Given the description of an element on the screen output the (x, y) to click on. 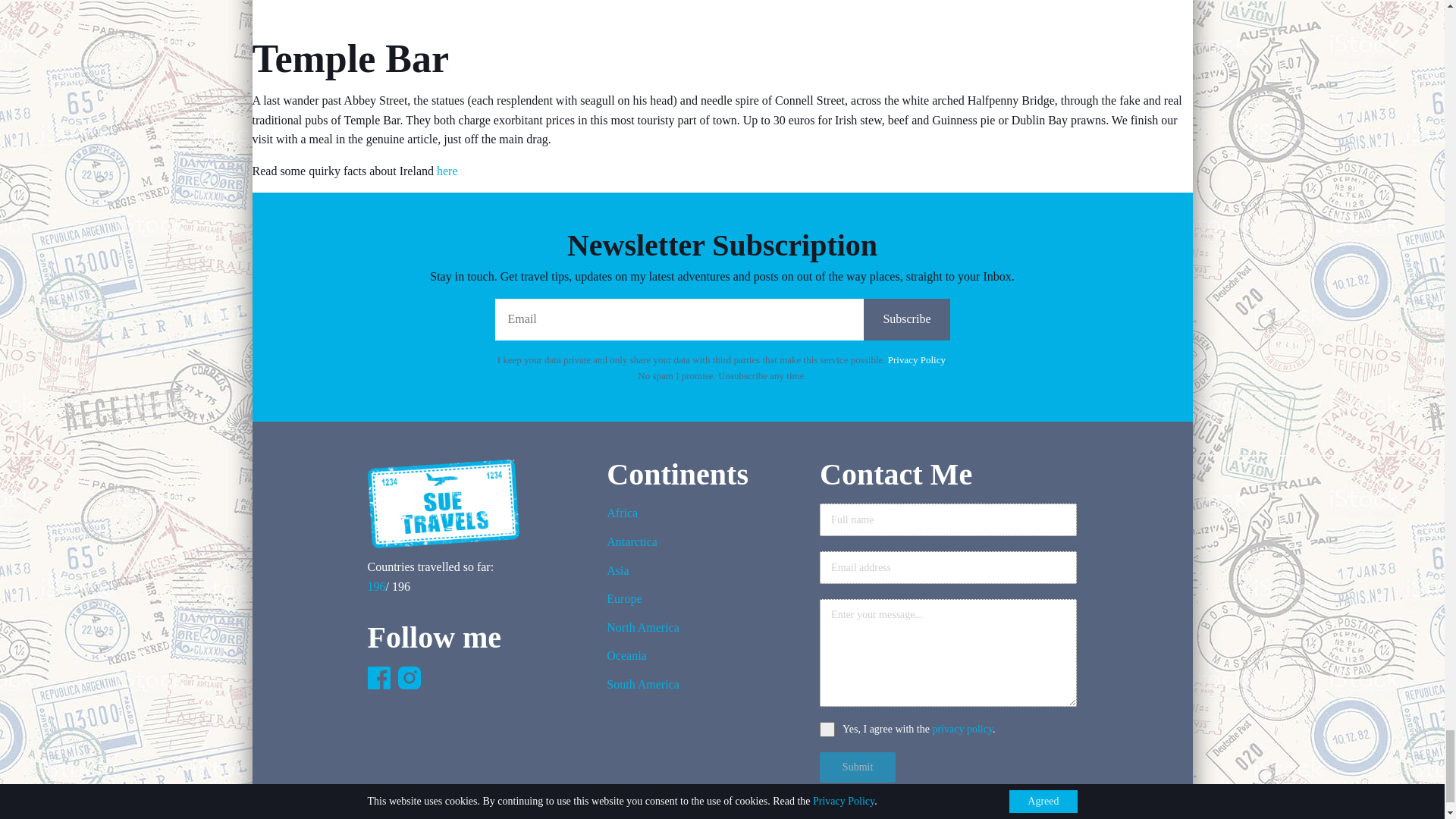
Privacy Policy (916, 359)
Submit (857, 767)
Oceania (643, 660)
Subscribe (906, 319)
here (447, 170)
North America (643, 632)
privacy policy (961, 728)
Antarctica (643, 546)
South America (643, 688)
